Given the description of an element on the screen output the (x, y) to click on. 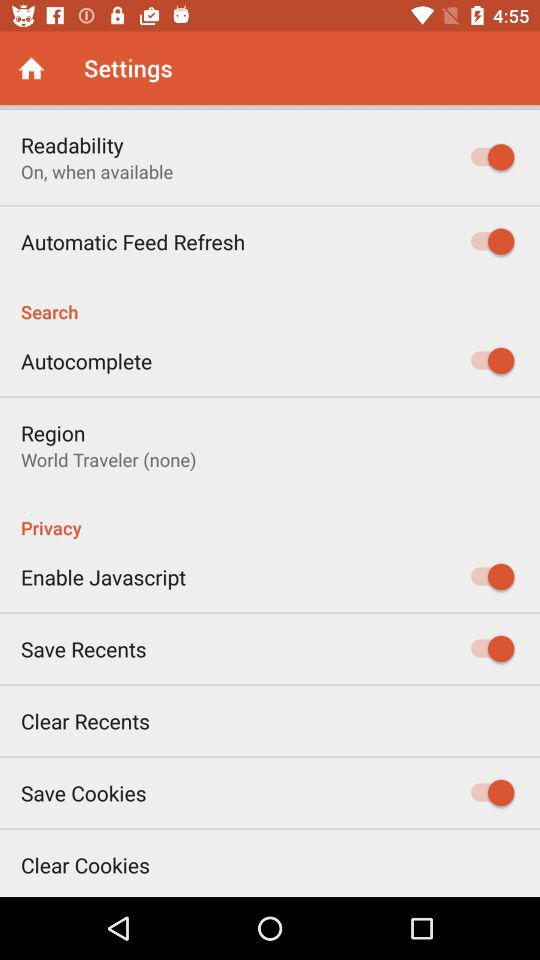
select the item below the world traveler (none) (270, 517)
